Given the description of an element on the screen output the (x, y) to click on. 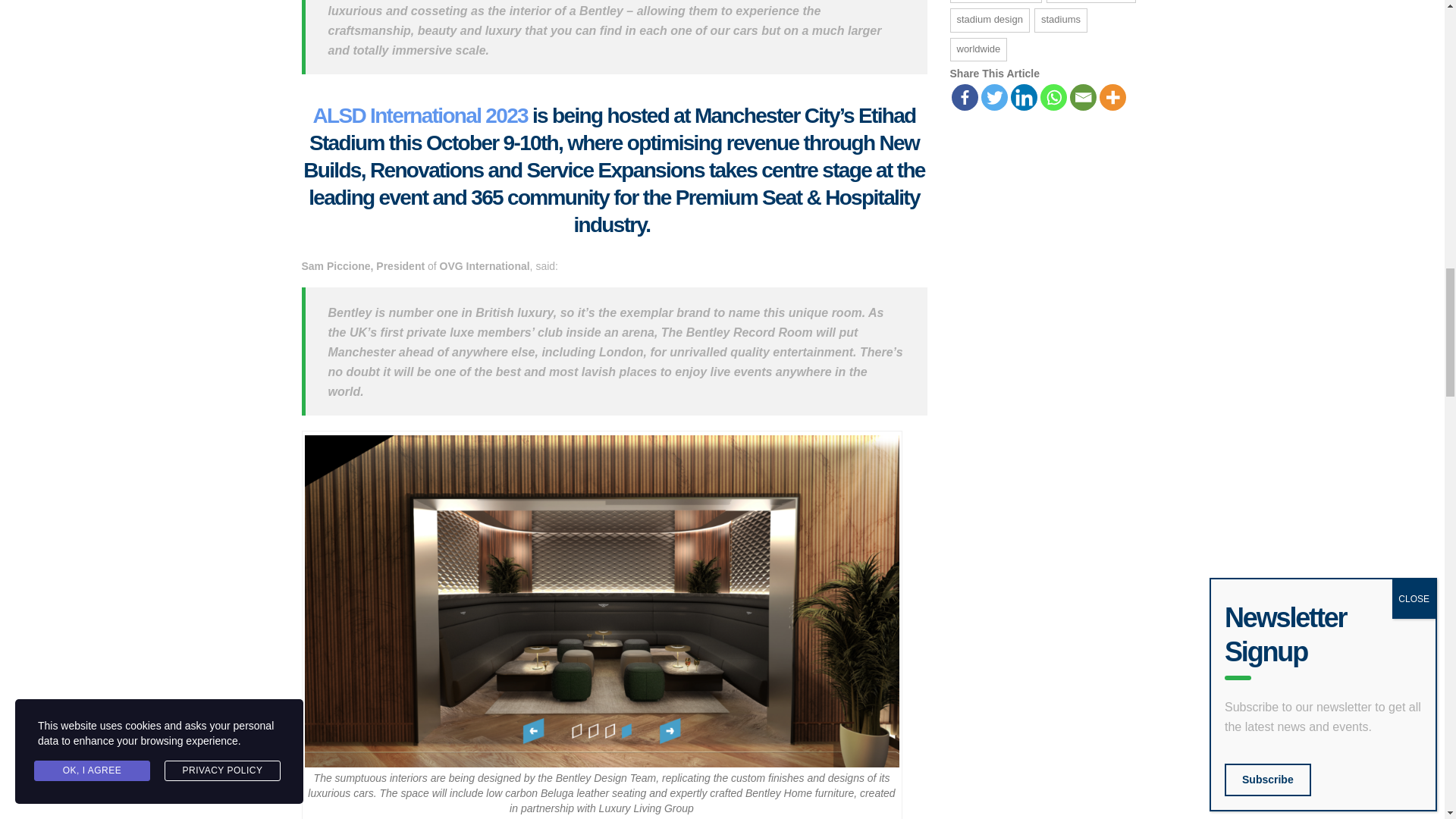
Whatsapp (1054, 97)
Linkedin (1023, 97)
Twitter (994, 97)
Facebook (963, 97)
Email (1082, 97)
